Given the description of an element on the screen output the (x, y) to click on. 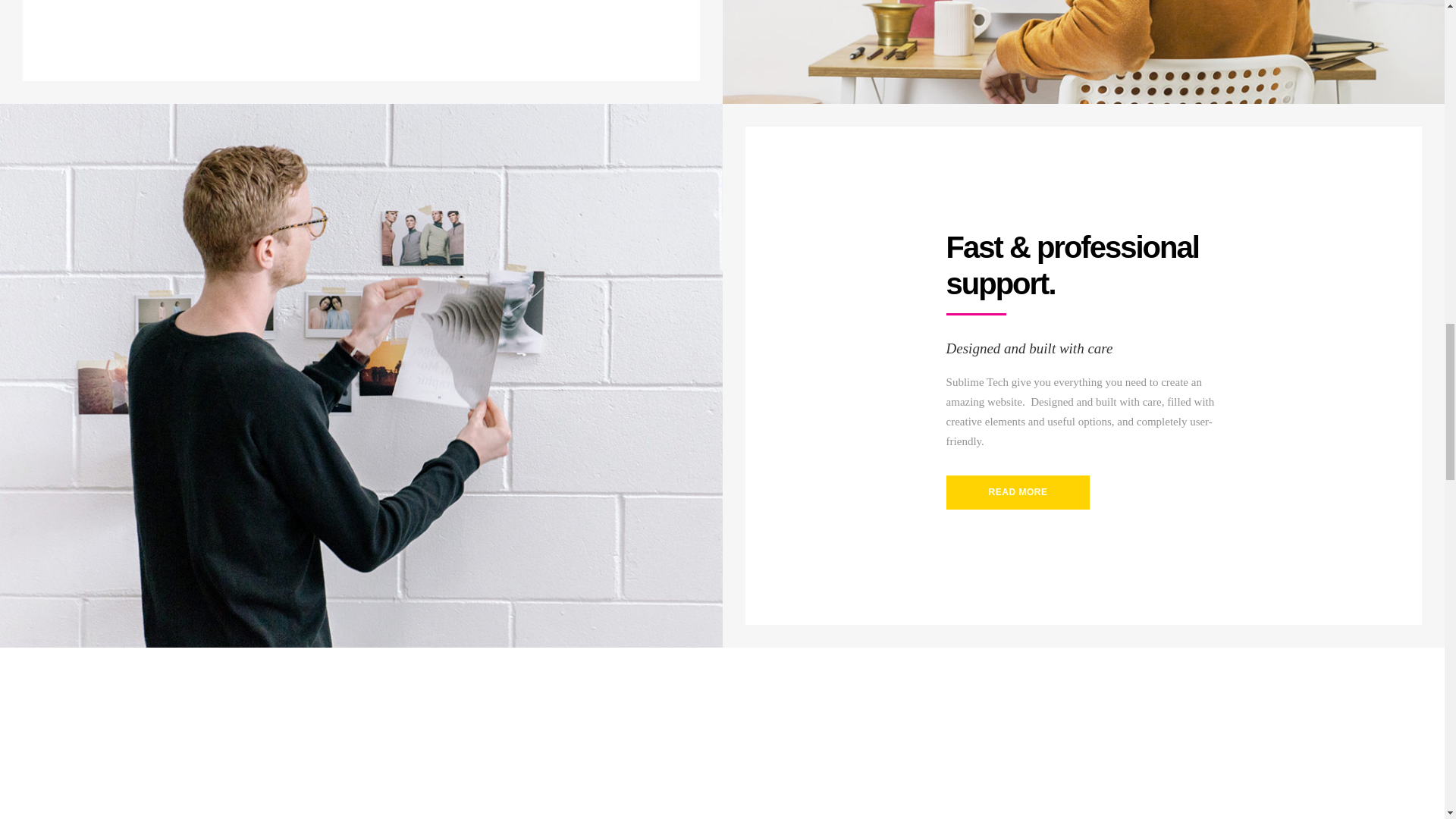
READ MORE (1018, 492)
